Given the description of an element on the screen output the (x, y) to click on. 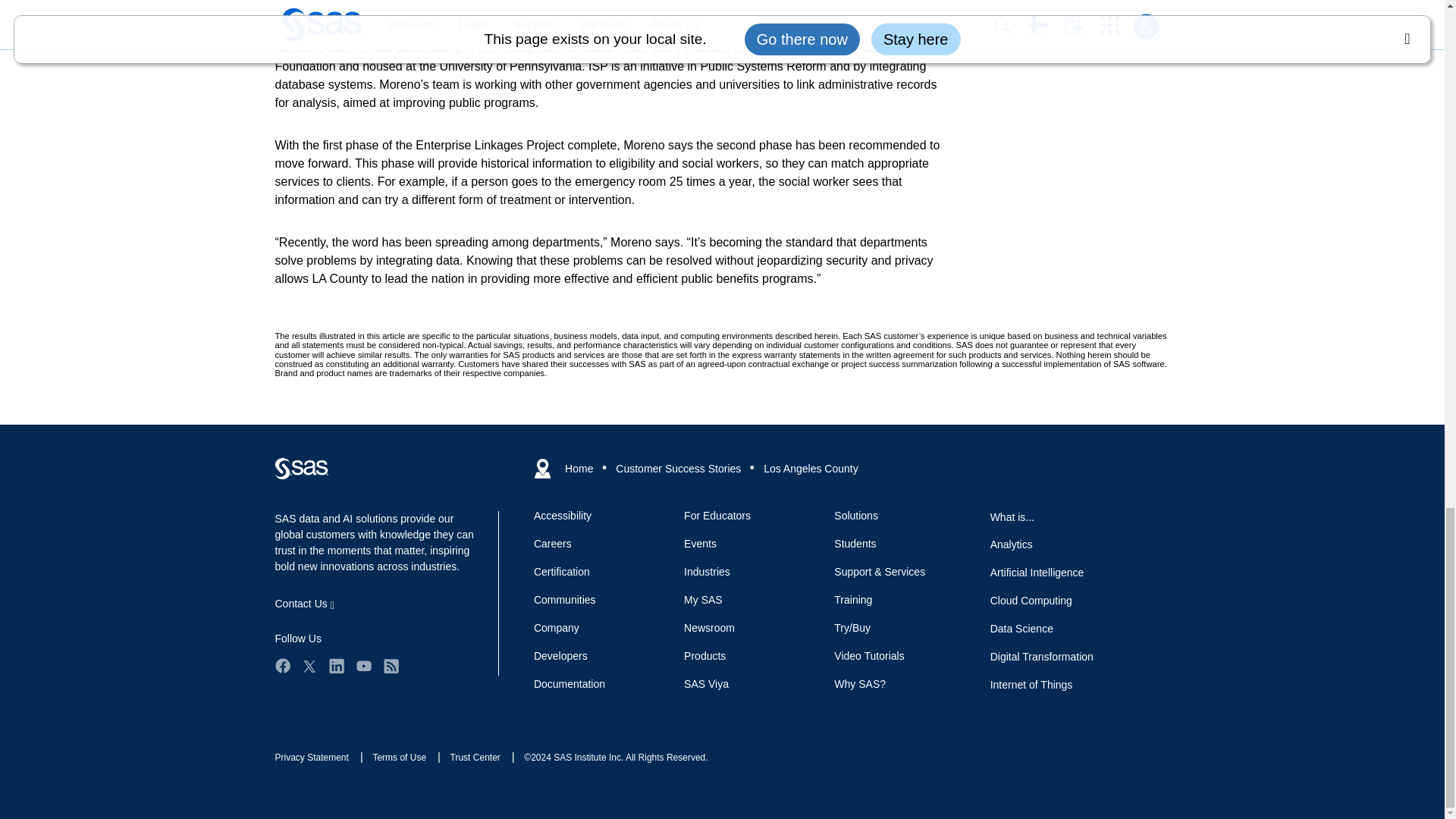
Web (301, 468)
